Given the description of an element on the screen output the (x, y) to click on. 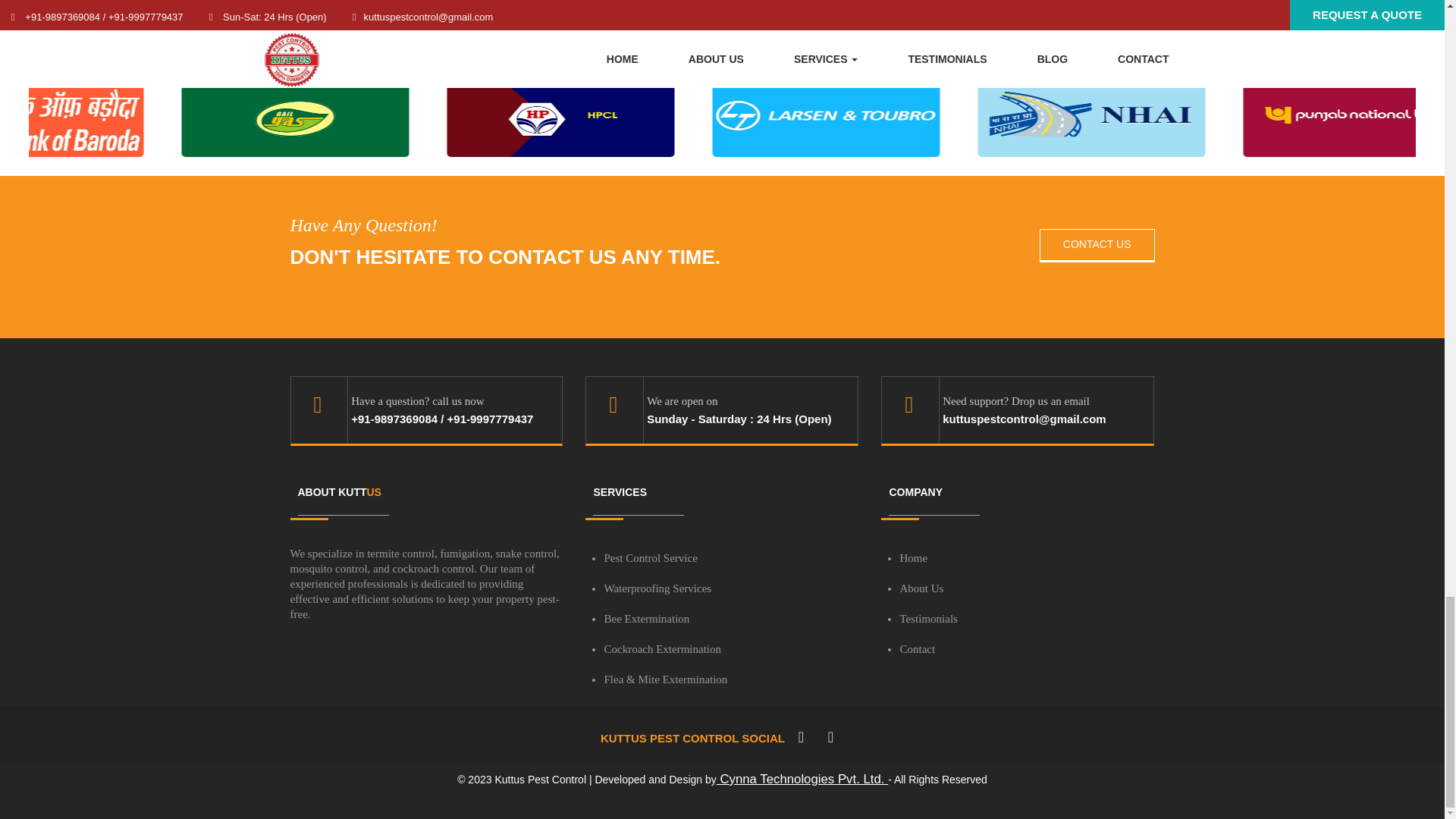
CONTACT US (1096, 245)
Waterproofing Services (657, 588)
Pest Control Service (650, 558)
